Given the description of an element on the screen output the (x, y) to click on. 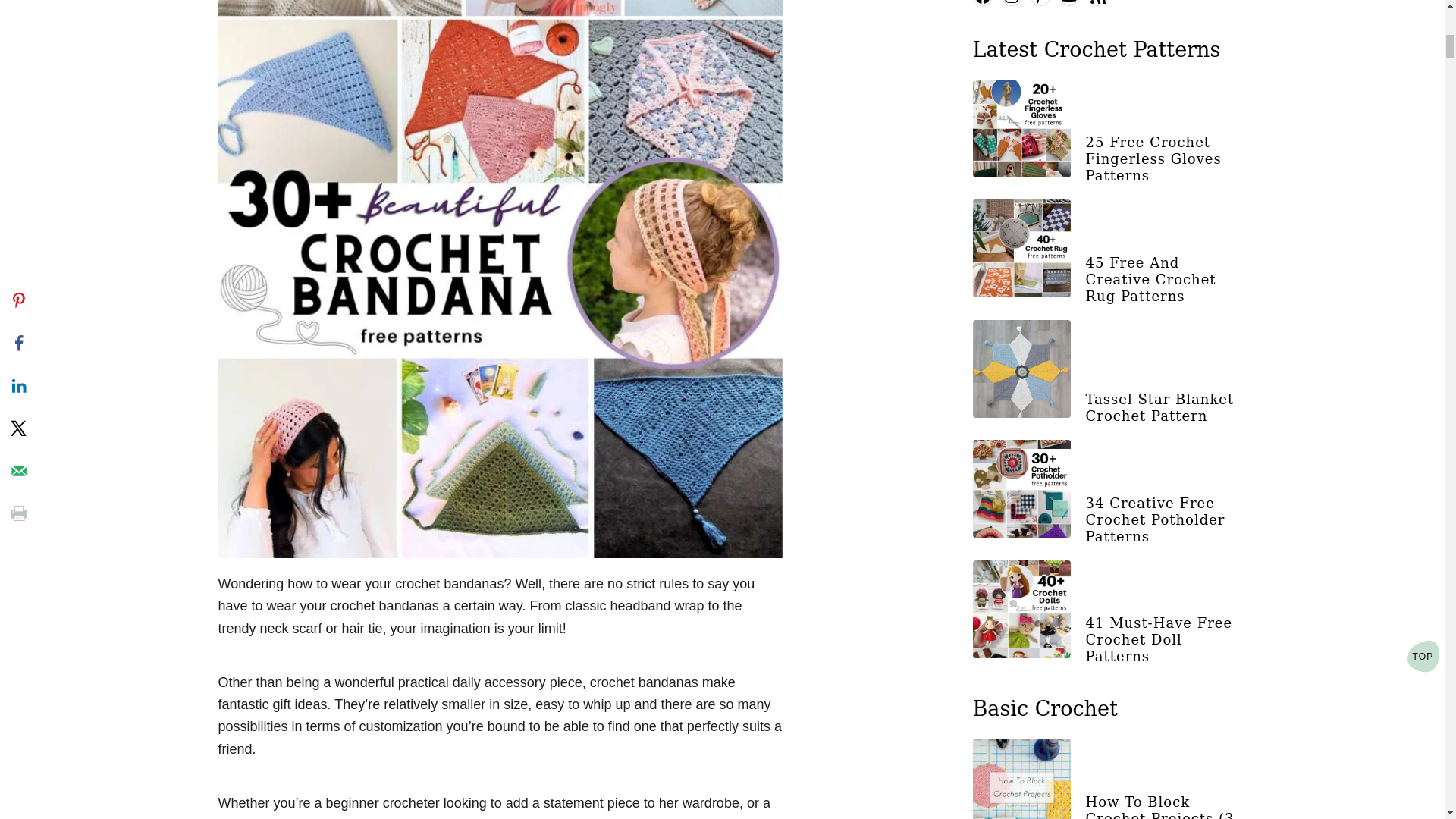
TOP (1423, 344)
TOP (1423, 344)
